Given the description of an element on the screen output the (x, y) to click on. 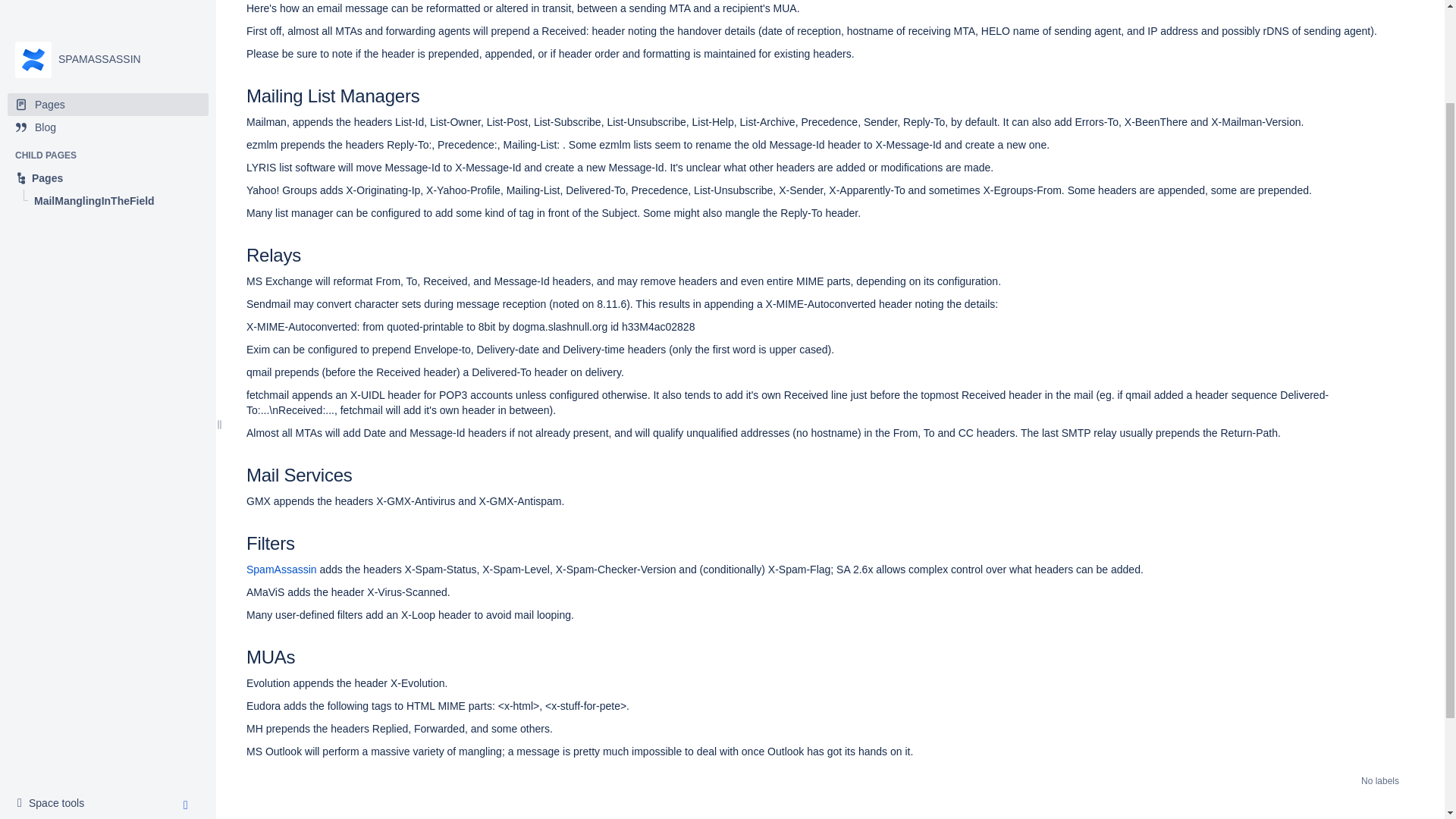
Pages (107, 56)
Blog (54, 681)
Pages (107, 8)
